Given the description of an element on the screen output the (x, y) to click on. 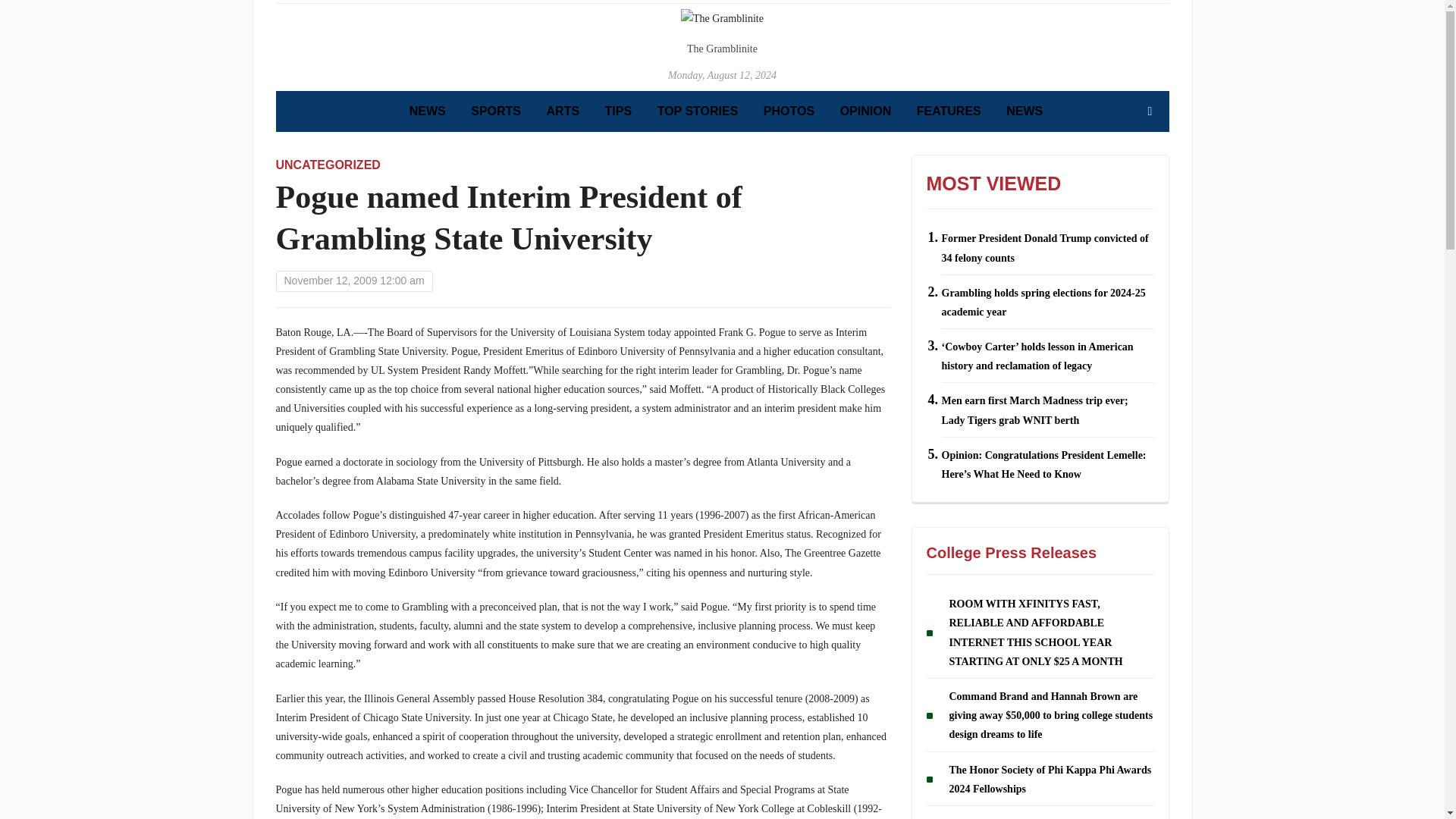
Search (1149, 111)
TOP STORIES (698, 111)
Former President Donald Trump convicted of 34 felony counts (1045, 247)
OPINION (865, 111)
NEWS (1024, 111)
The Honor Society of Phi Kappa Phi Awards 2024 Fellowships (1050, 779)
Grambling holds spring elections for 2024-25 academic year (1043, 302)
